Given the description of an element on the screen output the (x, y) to click on. 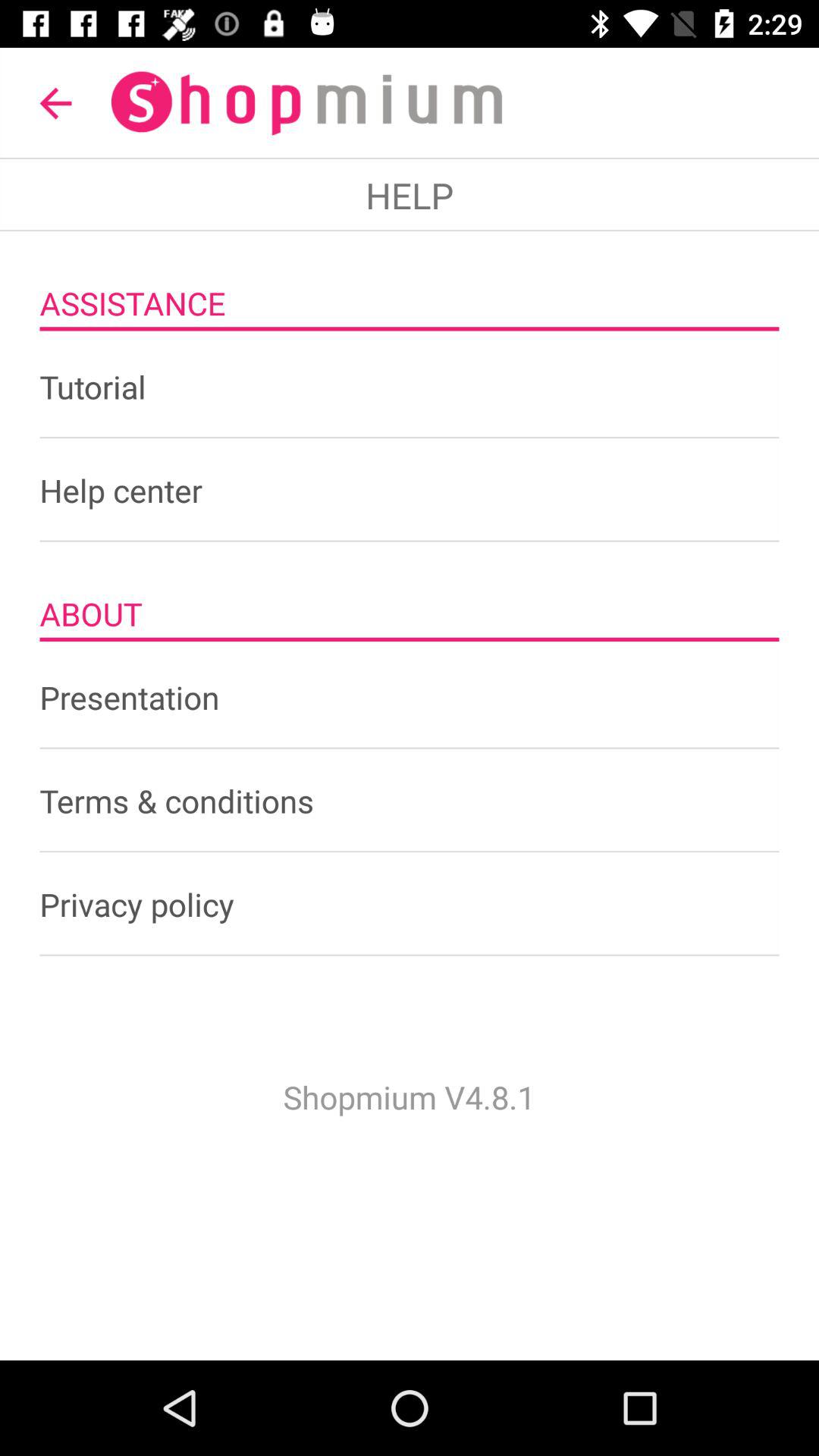
select help center item (409, 490)
